Given the description of an element on the screen output the (x, y) to click on. 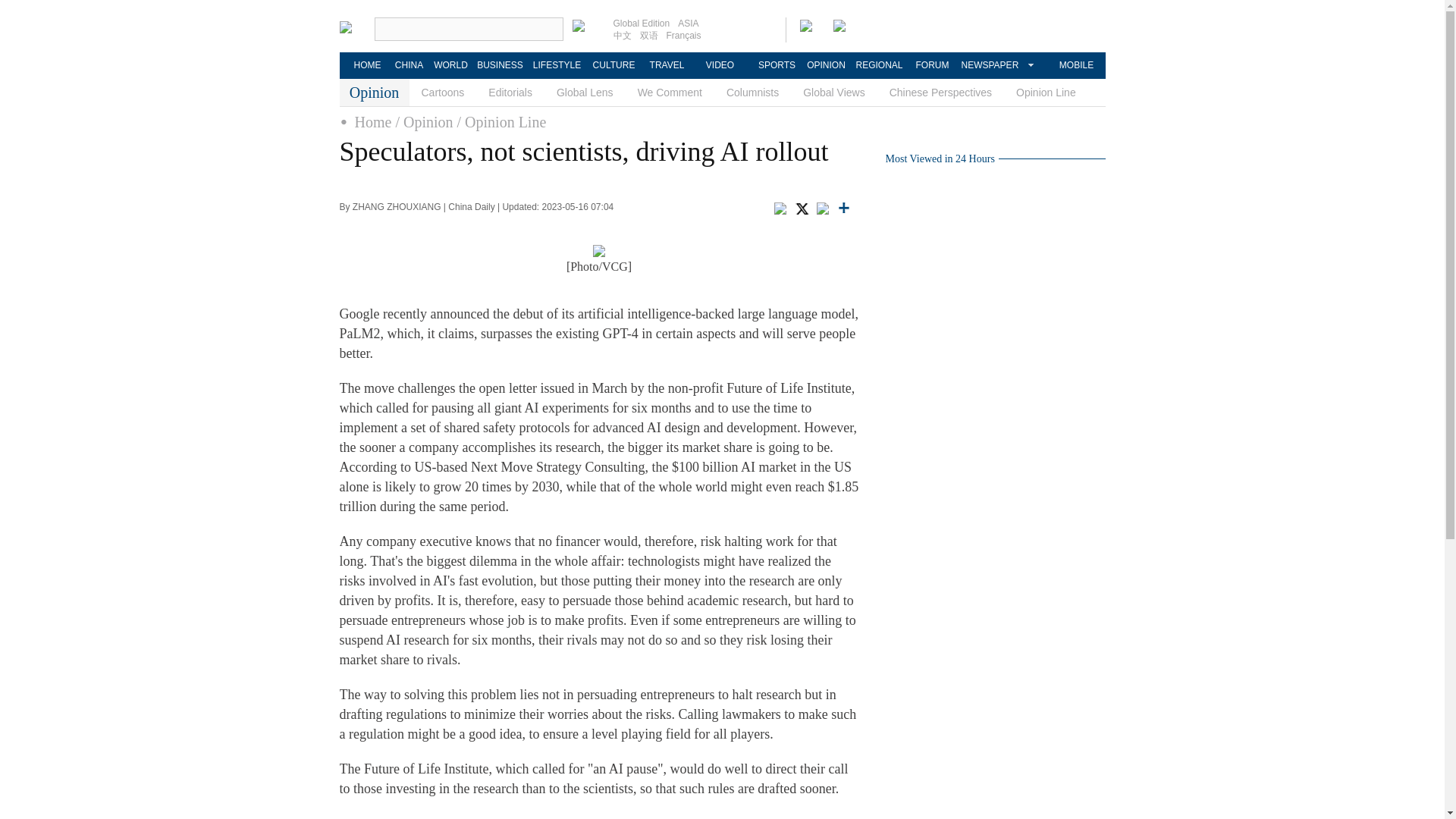
Global Edition (641, 23)
CHINA (408, 65)
TRAVEL (666, 65)
HOME (367, 65)
WORLD (451, 65)
BUSINESS (499, 65)
REGIONAL (878, 65)
FORUM (931, 65)
LIFESTYLE (557, 65)
SPORTS (777, 65)
